Given the description of an element on the screen output the (x, y) to click on. 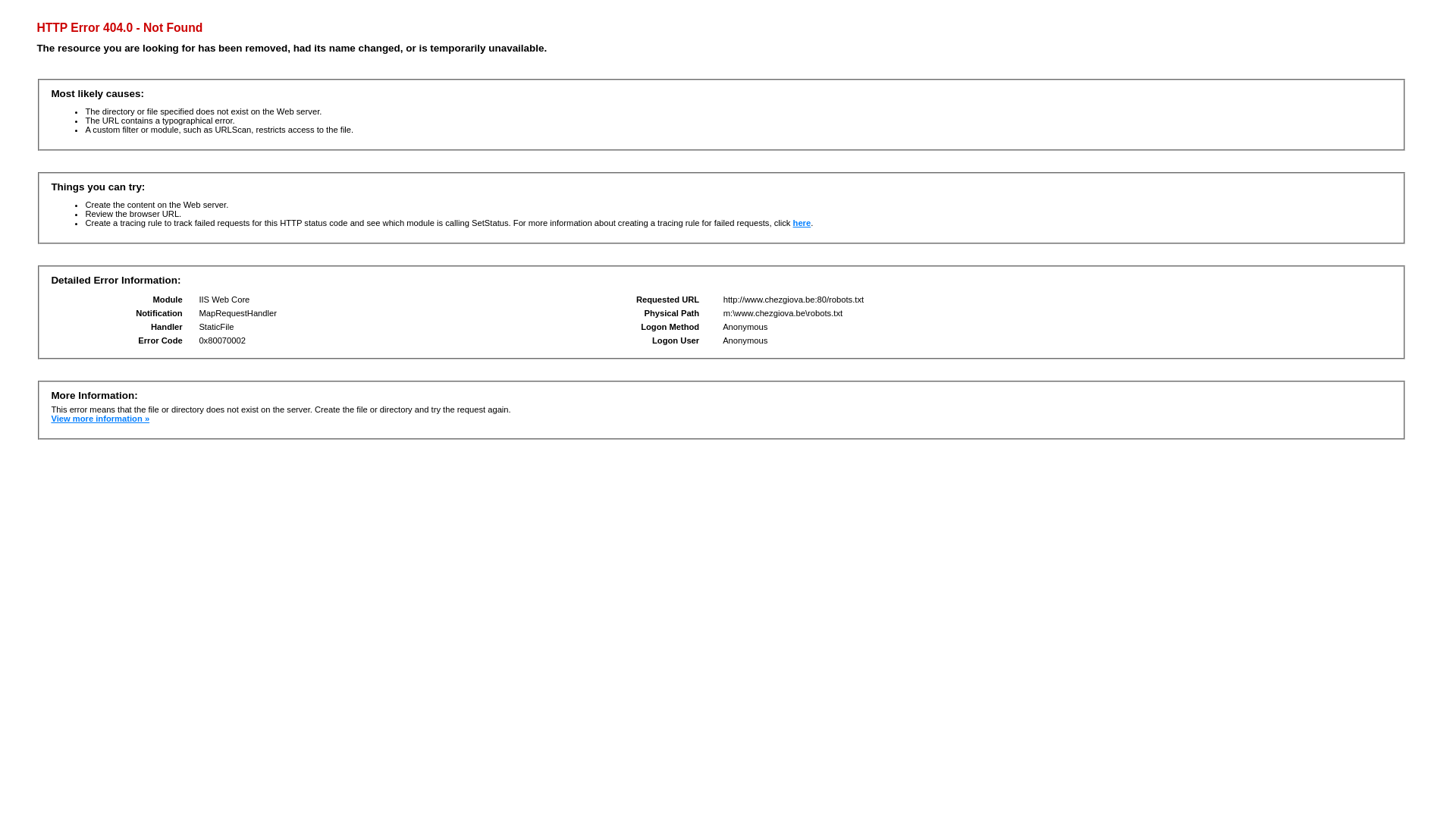
here Element type: text (802, 222)
